Given the description of an element on the screen output the (x, y) to click on. 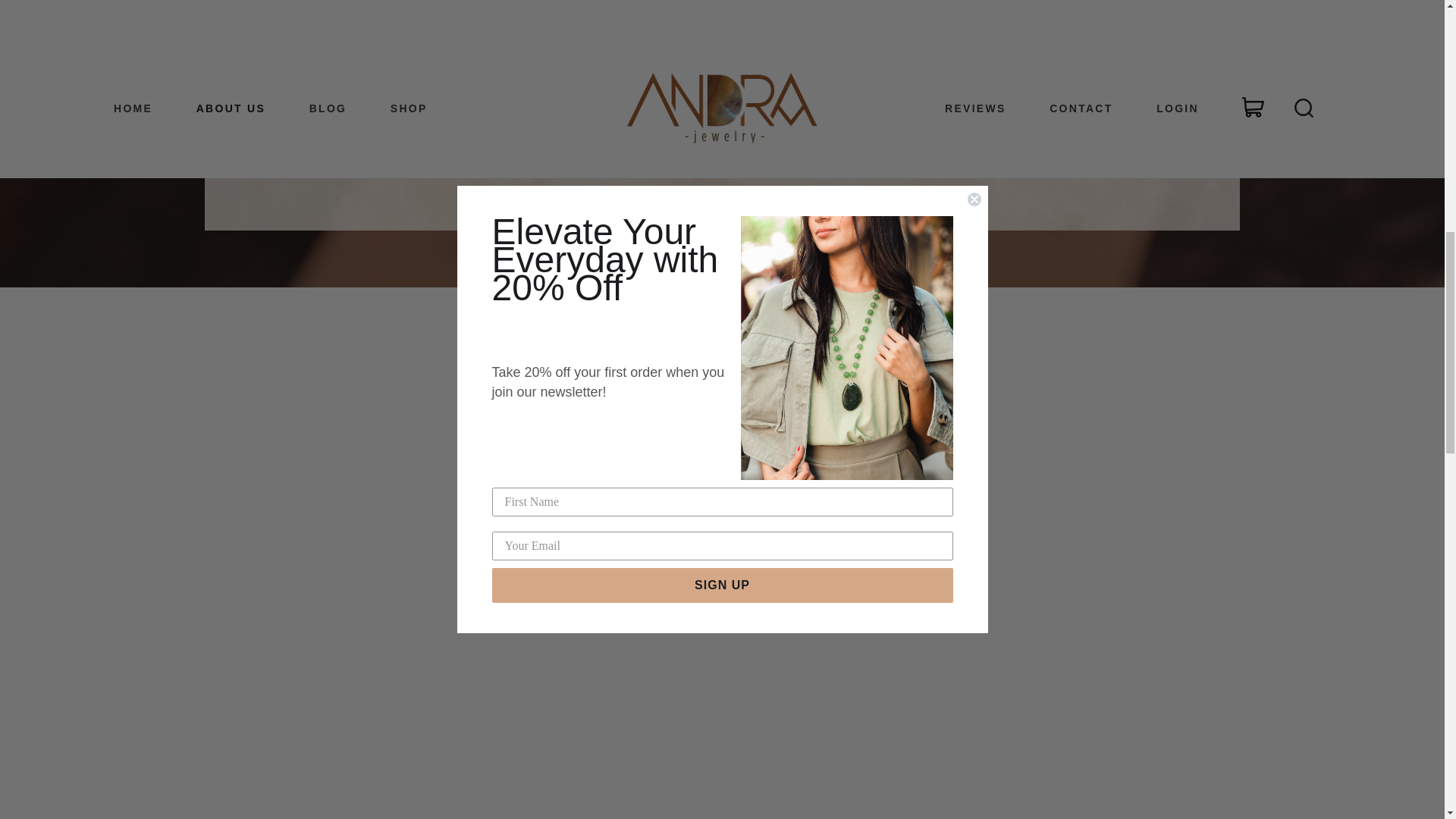
Add to Cart (892, 90)
